Given the description of an element on the screen output the (x, y) to click on. 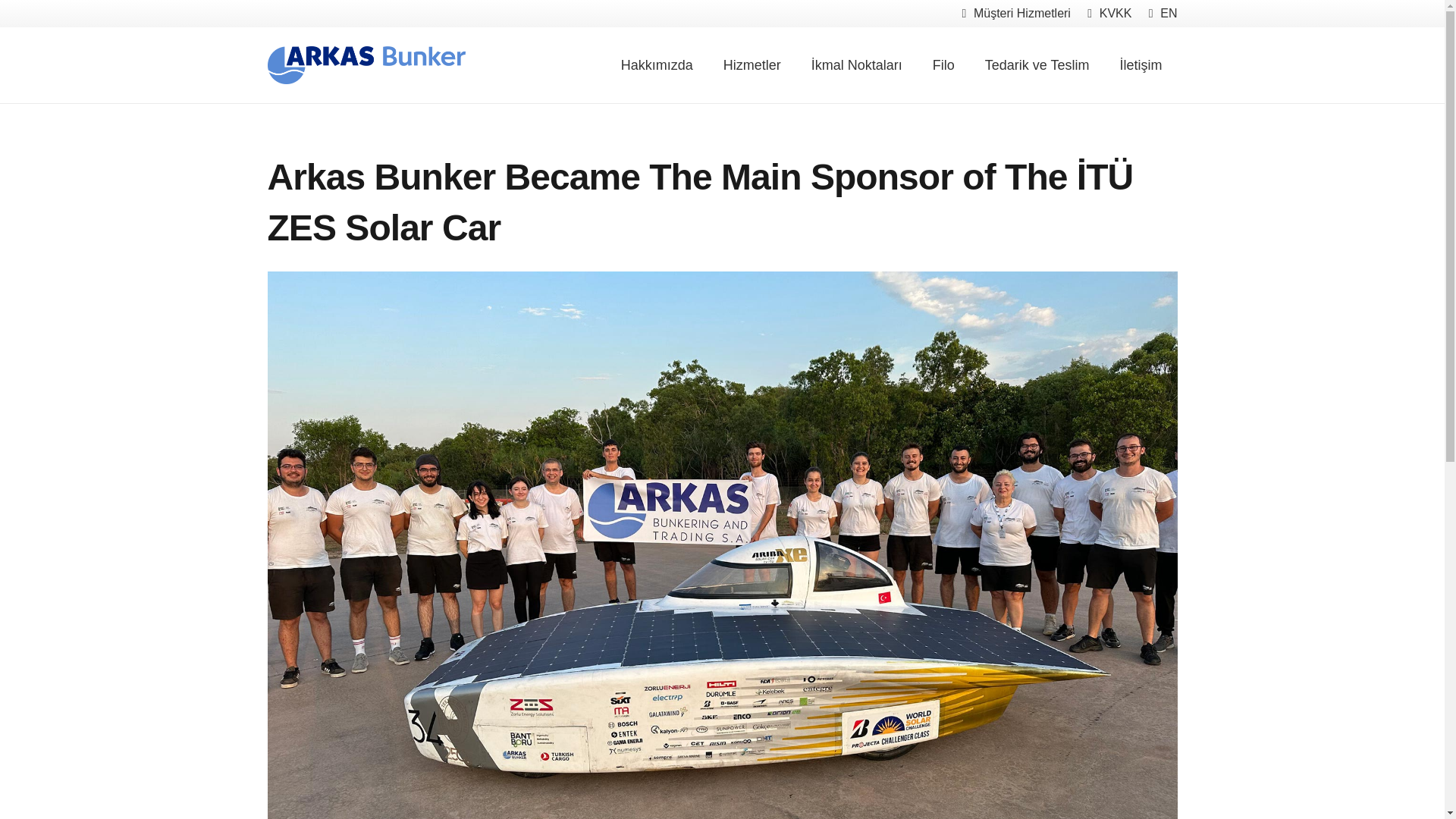
Hizmetler (751, 65)
EN (1162, 12)
KVKK (1109, 12)
Tedarik ve Teslim (1037, 65)
